Given the description of an element on the screen output the (x, y) to click on. 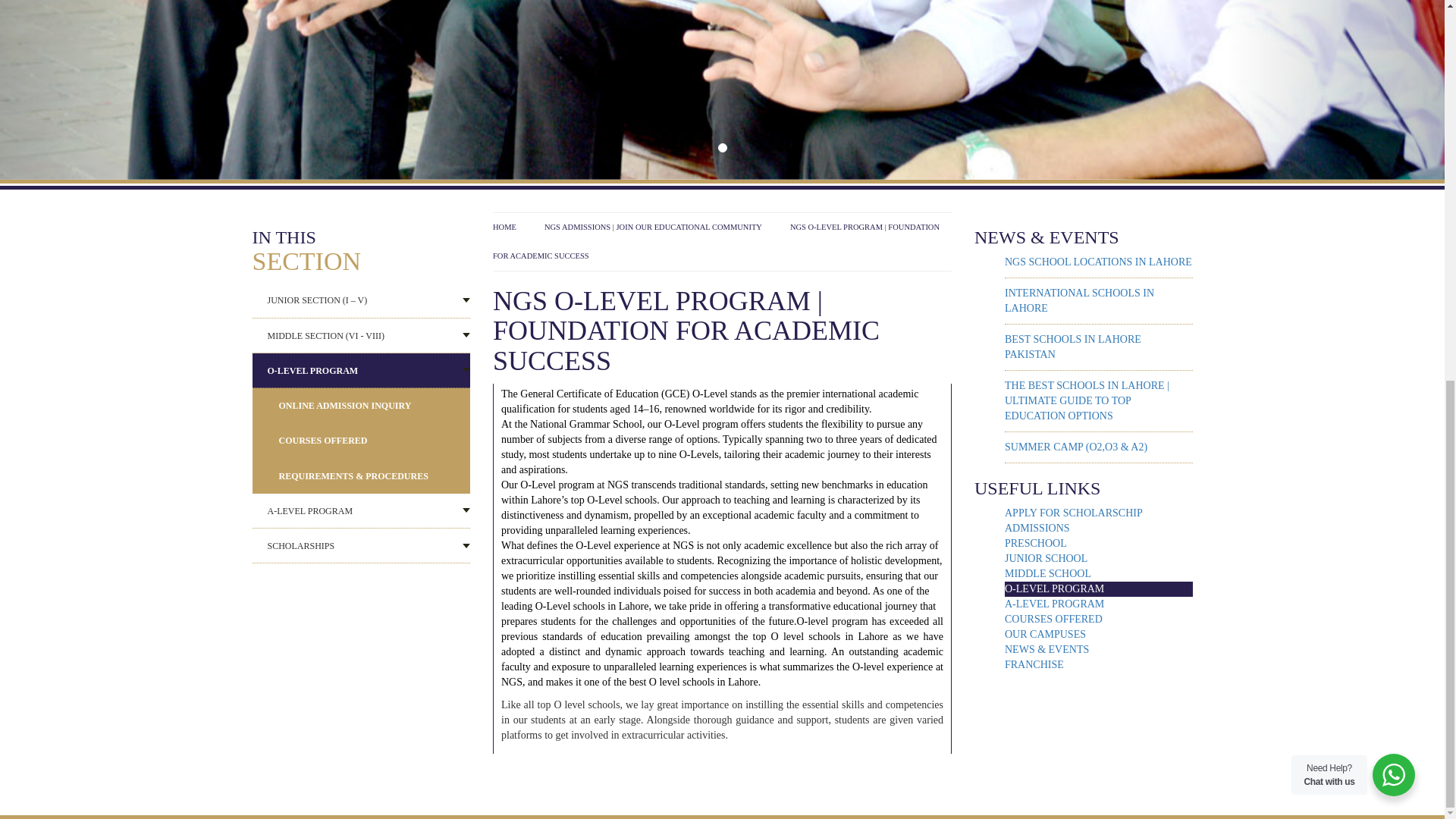
Click Here (721, 765)
